Given the description of an element on the screen output the (x, y) to click on. 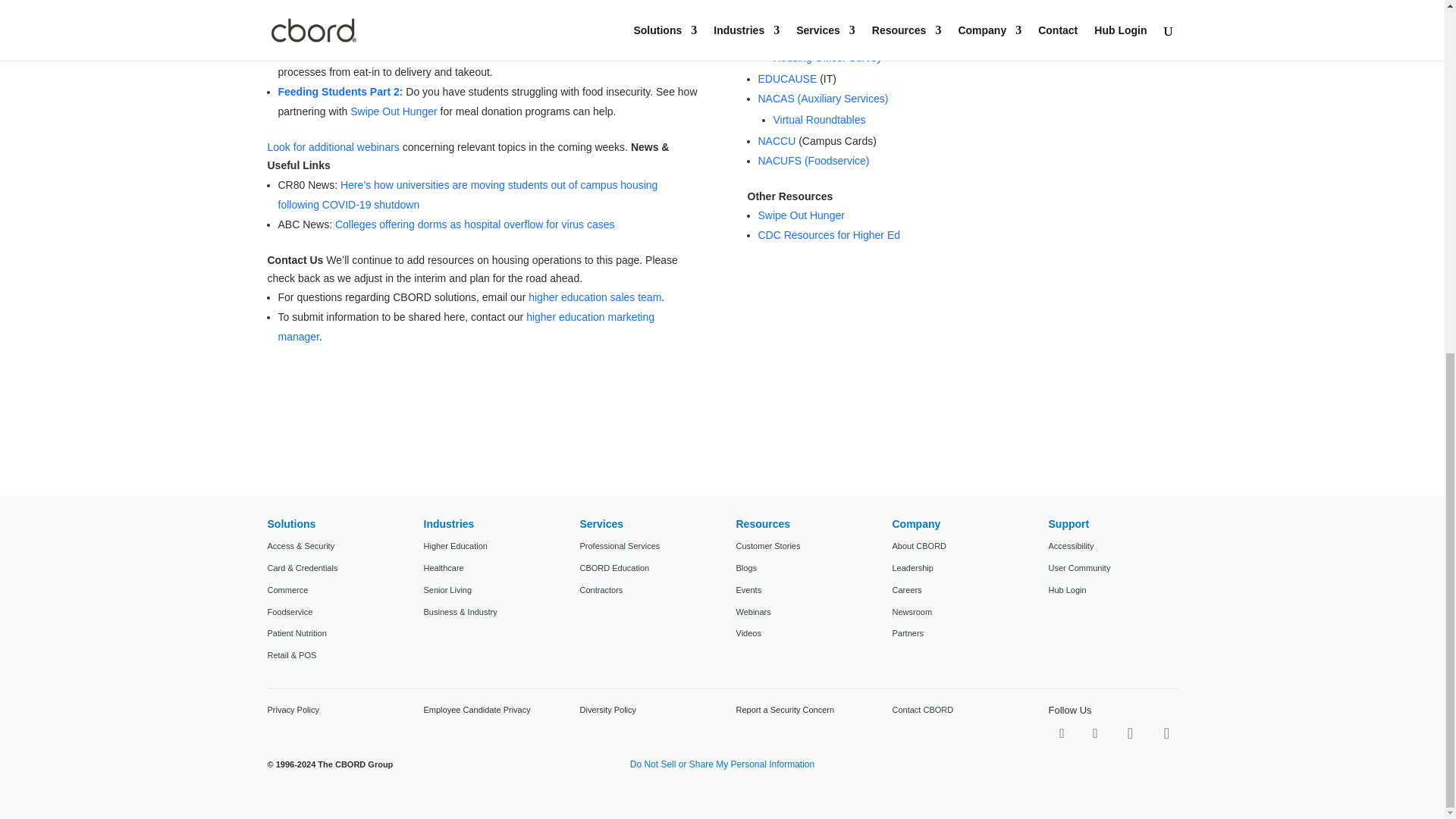
Follow on Youtube (1165, 733)
Follow on X (1094, 732)
Follow on Facebook (1061, 732)
Follow on LinkedIn (1129, 733)
